Given the description of an element on the screen output the (x, y) to click on. 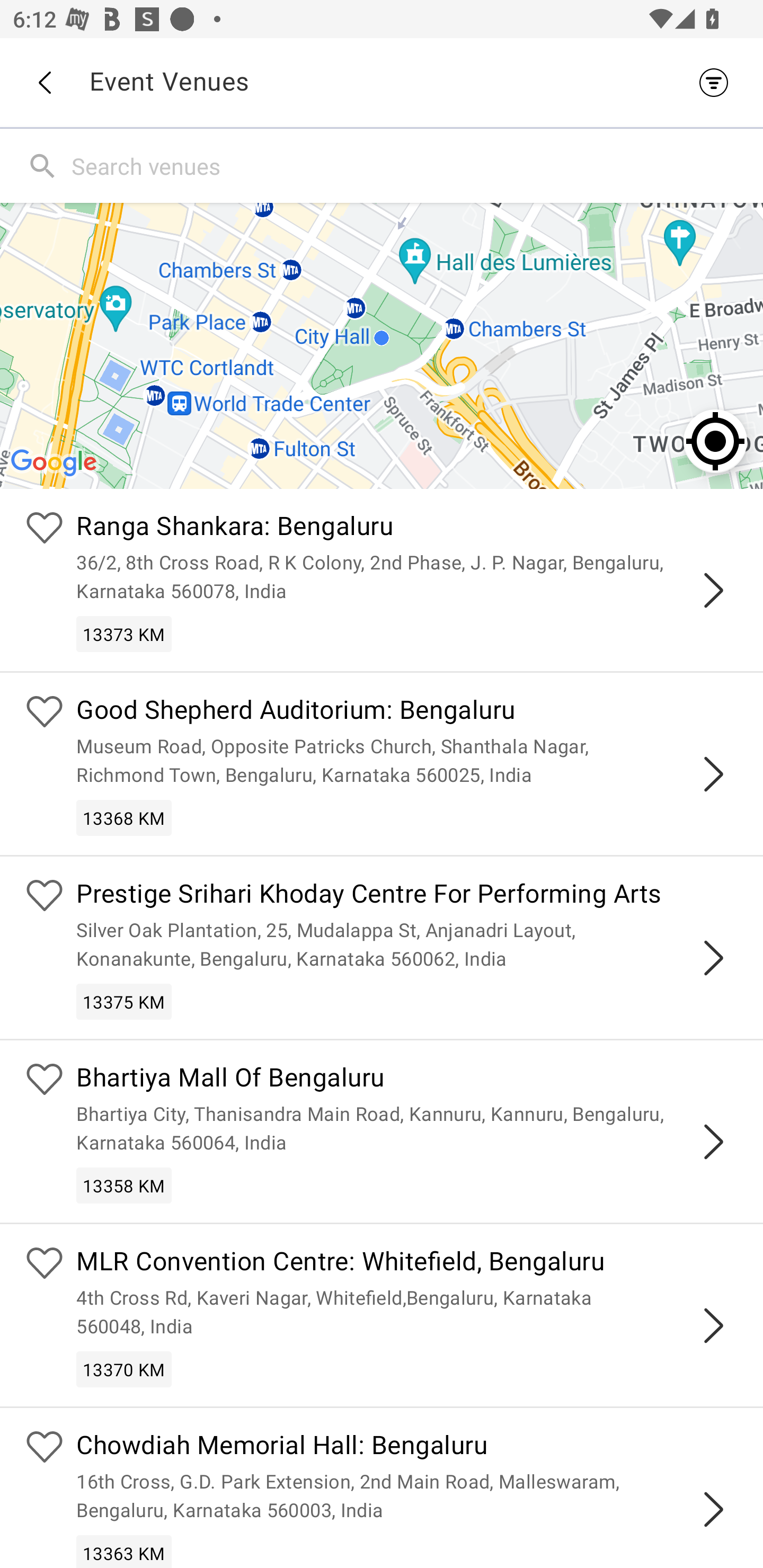
Back Event Venues Filter (381, 82)
Filter (718, 82)
Back (44, 82)
Search venues (413, 165)
Google Map Map Marker (381, 345)
Ranga Shankara: Bengaluru (406, 528)
 (713, 590)
13373 KM (123, 634)
Good Shepherd Auditorium: Bengaluru (406, 711)
 (713, 773)
13368 KM (123, 817)
Prestige Srihari Khoday Centre For Performing Arts (406, 894)
 (713, 957)
13375 KM (123, 1001)
Bhartiya Mall Of Bengaluru (406, 1079)
 (713, 1141)
13358 KM (123, 1186)
MLR Convention Centre: Whitefield, Bengaluru (406, 1263)
 (713, 1325)
13370 KM (123, 1369)
Chowdiah Memorial Hall: Bengaluru (406, 1446)
 (713, 1508)
13363 KM (123, 1551)
